Given the description of an element on the screen output the (x, y) to click on. 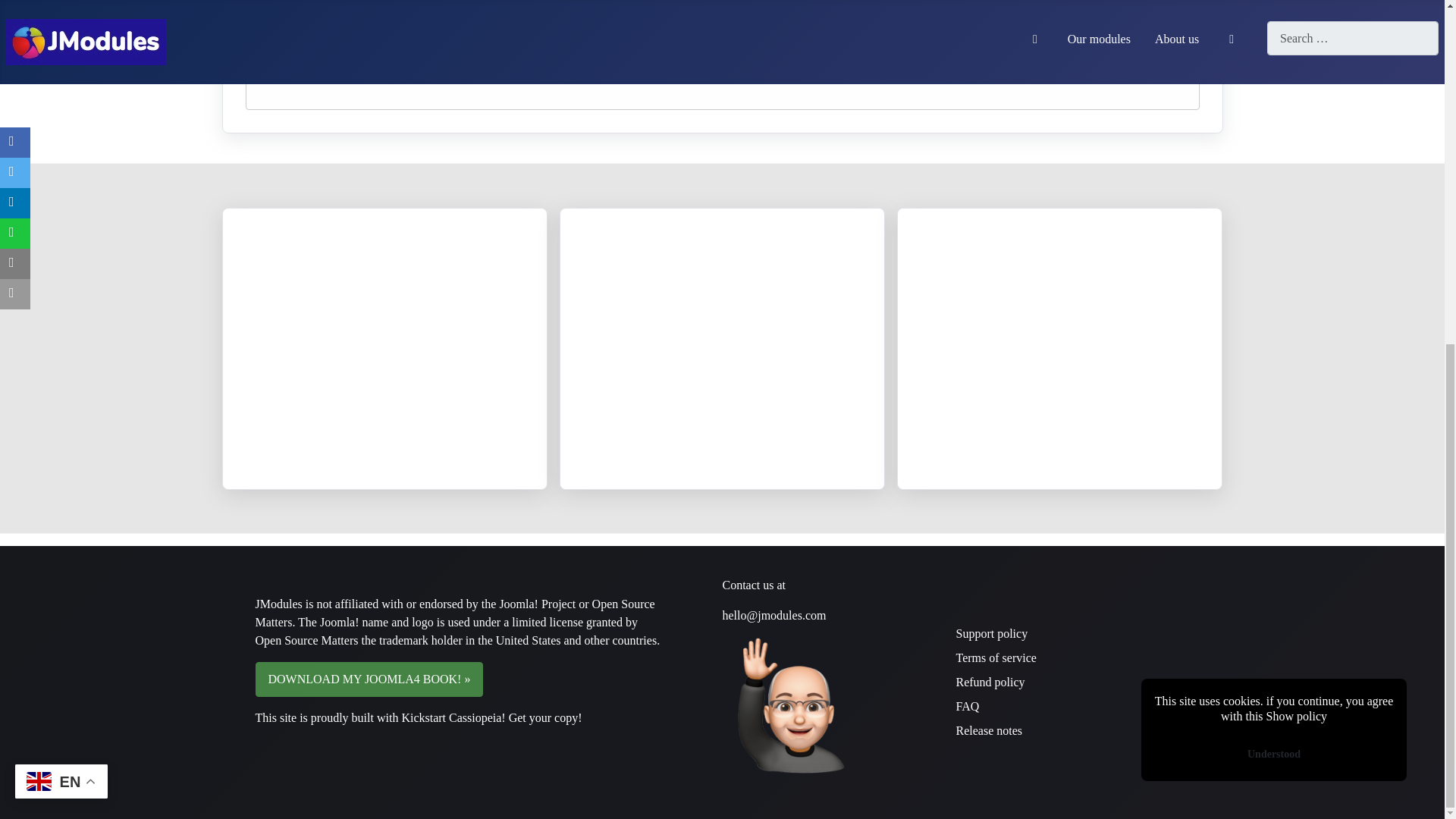
Refund policy (990, 681)
Release notes (988, 730)
 Joomla! Project (535, 603)
FAQ (966, 706)
Jmodules-004.pdf (323, 4)
Open Source Matters (447, 649)
Support policy (991, 633)
Open Source Matters (453, 612)
Get your copy! (545, 717)
Terms of service (995, 657)
Joomla! (339, 621)
